Given the description of an element on the screen output the (x, y) to click on. 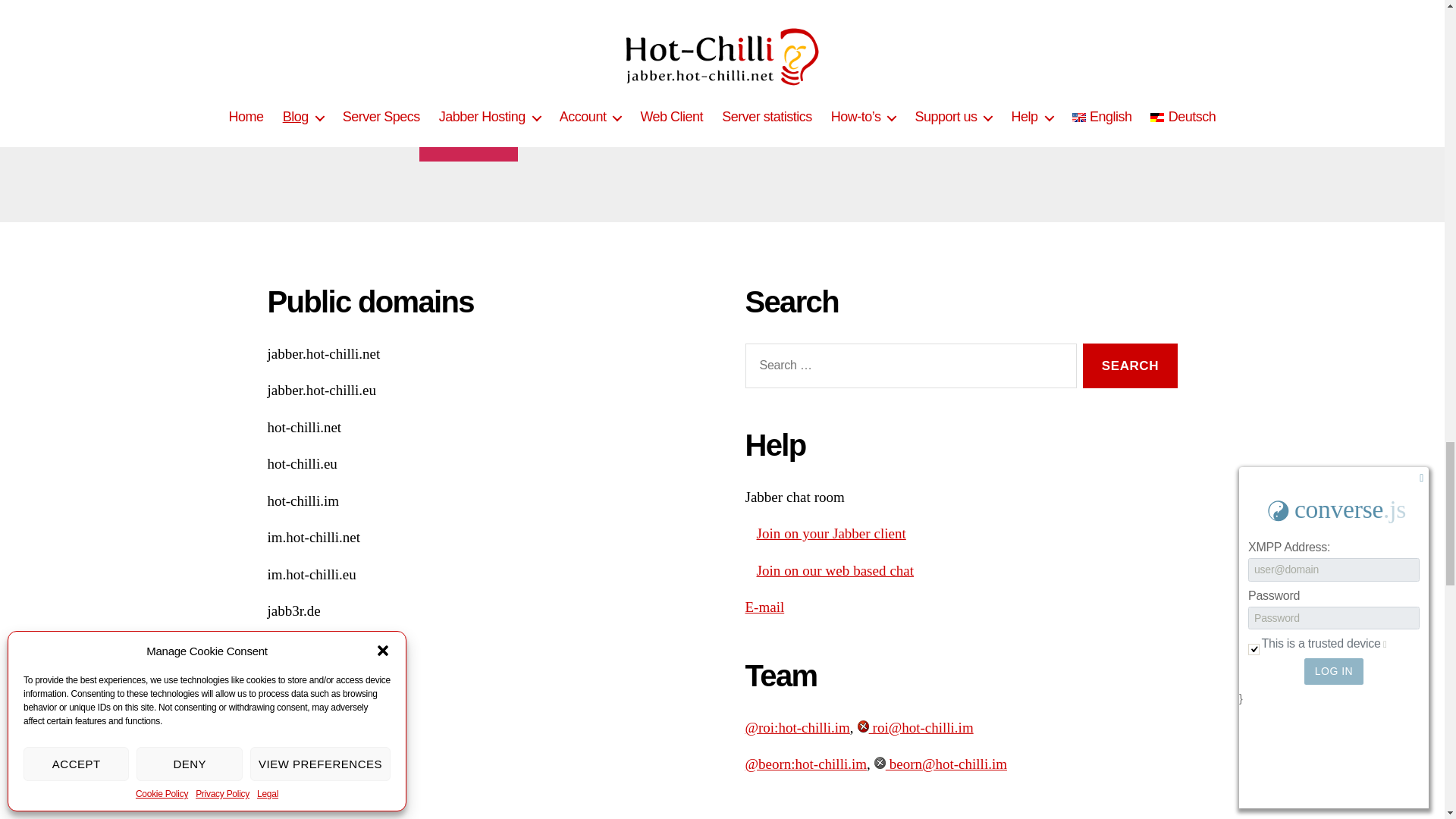
Search (1129, 365)
Search (1129, 365)
Ping me! (468, 139)
